Given the description of an element on the screen output the (x, y) to click on. 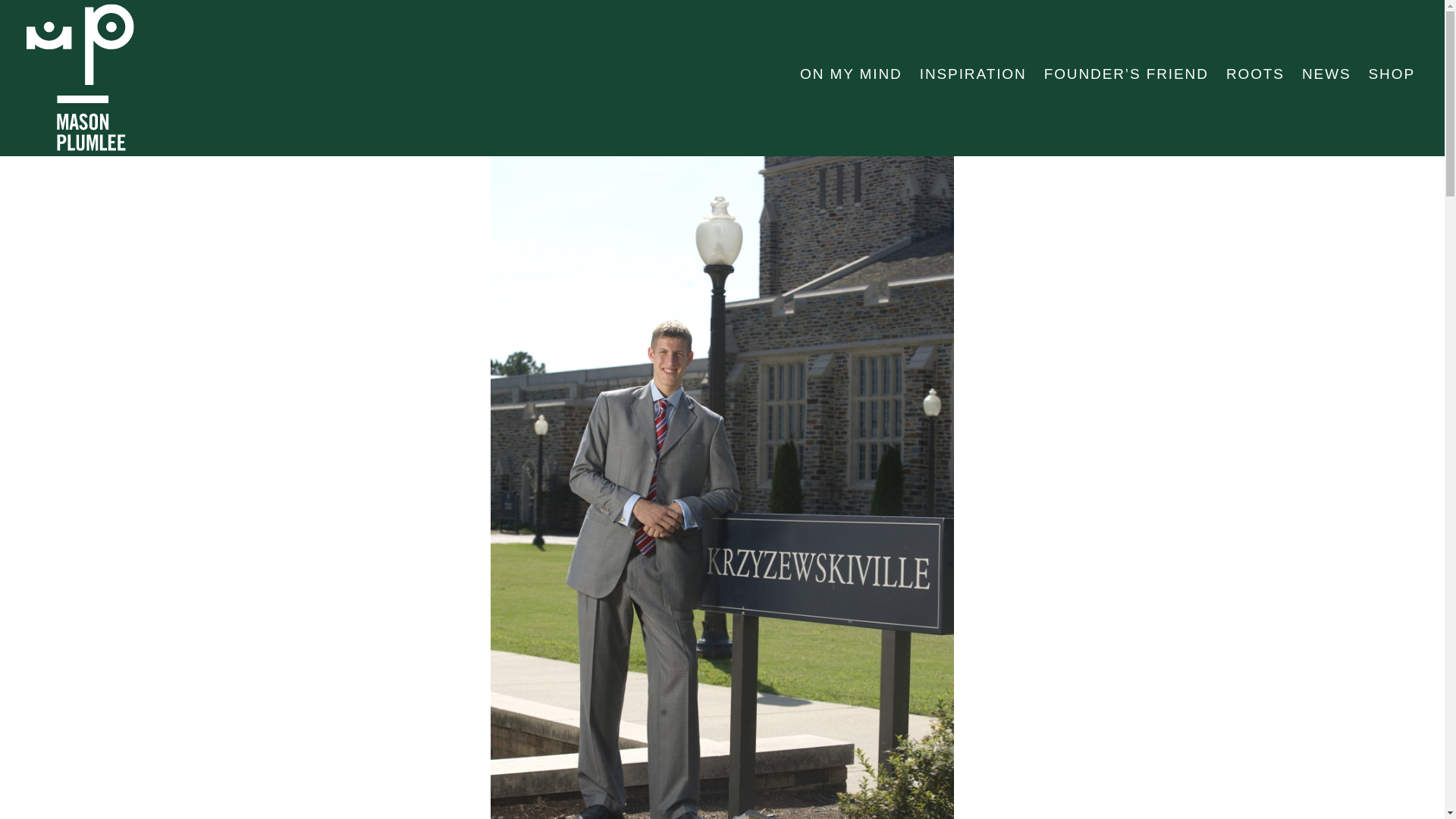
ROOTS (1254, 73)
SHOP (1391, 73)
ON MY MIND (850, 73)
INSPIRATION (973, 73)
NEWS (1326, 73)
Search (68, 18)
